Given the description of an element on the screen output the (x, y) to click on. 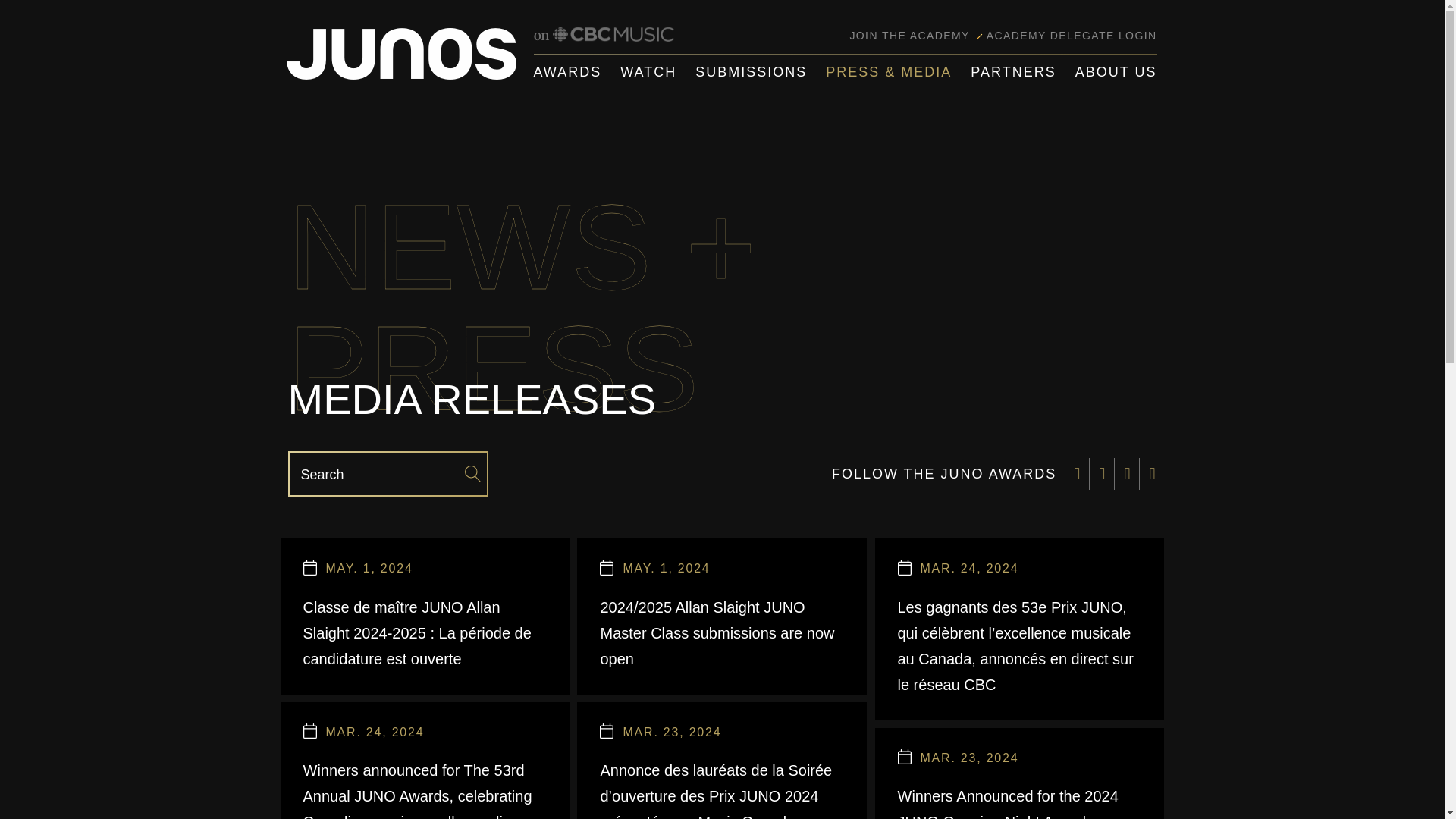
ACADEMY DELEGATE LOGIN (1072, 35)
JOIN THE ACADEMY (908, 35)
PARTNERS (1013, 71)
WATCH (648, 71)
SUBMISSIONS (750, 71)
submit (472, 474)
AWARDS (568, 71)
